Given the description of an element on the screen output the (x, y) to click on. 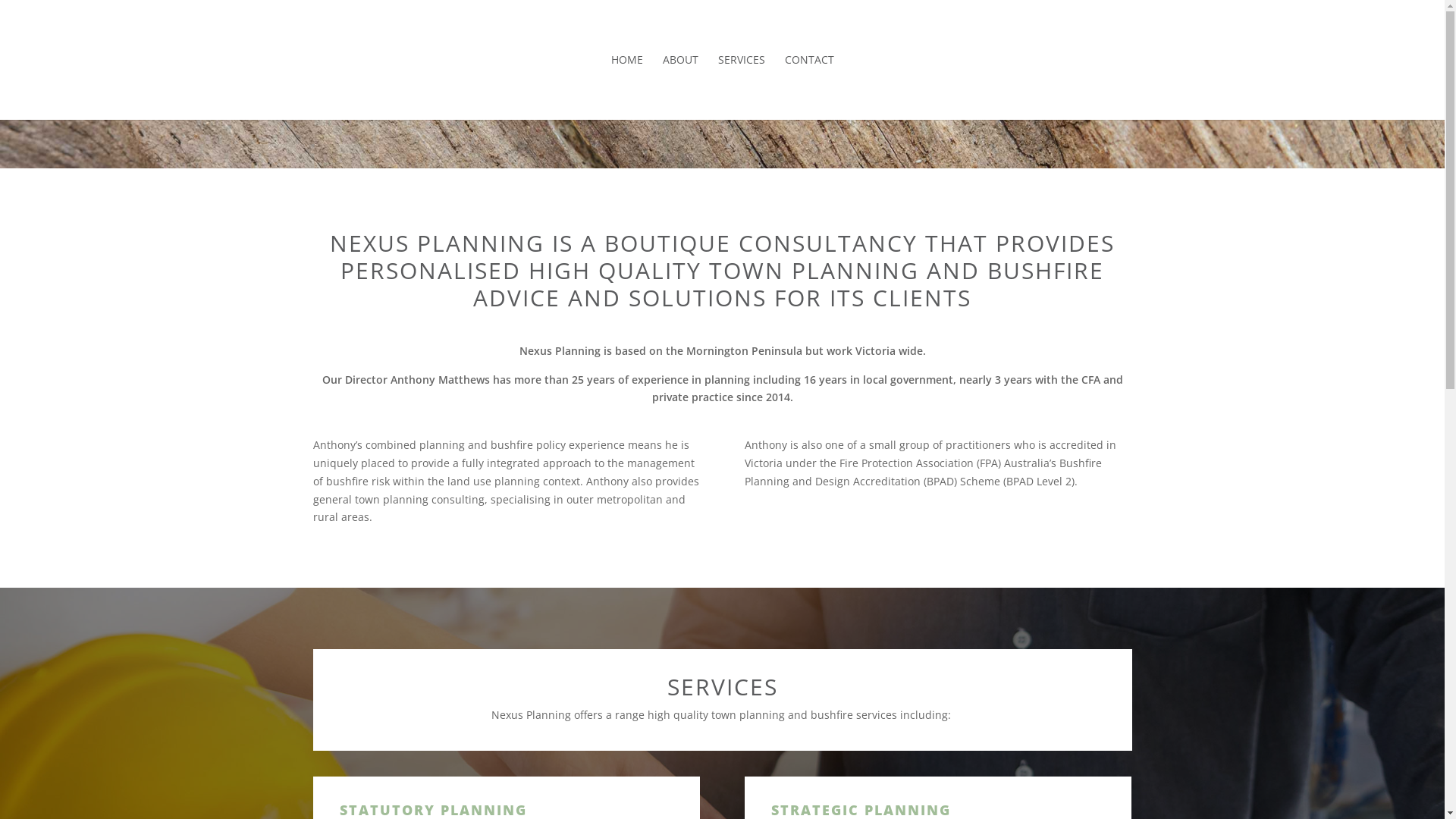
SERVICES Element type: text (740, 86)
ABOUT Element type: text (680, 86)
CONTACT Element type: text (808, 86)
HOME Element type: text (627, 86)
